Given the description of an element on the screen output the (x, y) to click on. 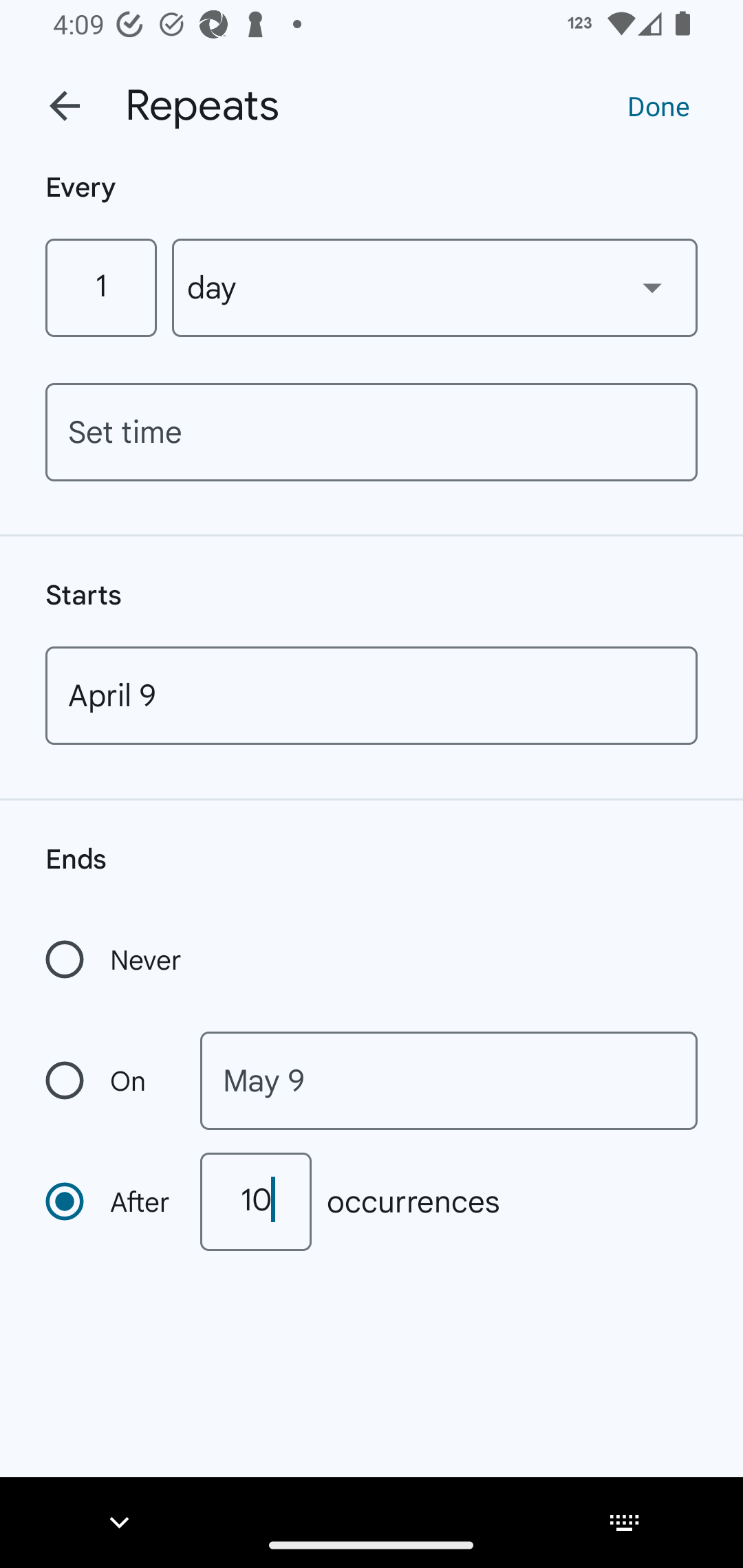
Back (64, 105)
Done (658, 105)
1 (100, 287)
day (434, 287)
Show dropdown menu (652, 286)
Set time (371, 431)
April 9 (371, 695)
Never Recurrence never ends (115, 959)
May 9 (448, 1080)
On Recurrence ends on a specific date (109, 1080)
10 (255, 1201)
